Given the description of an element on the screen output the (x, y) to click on. 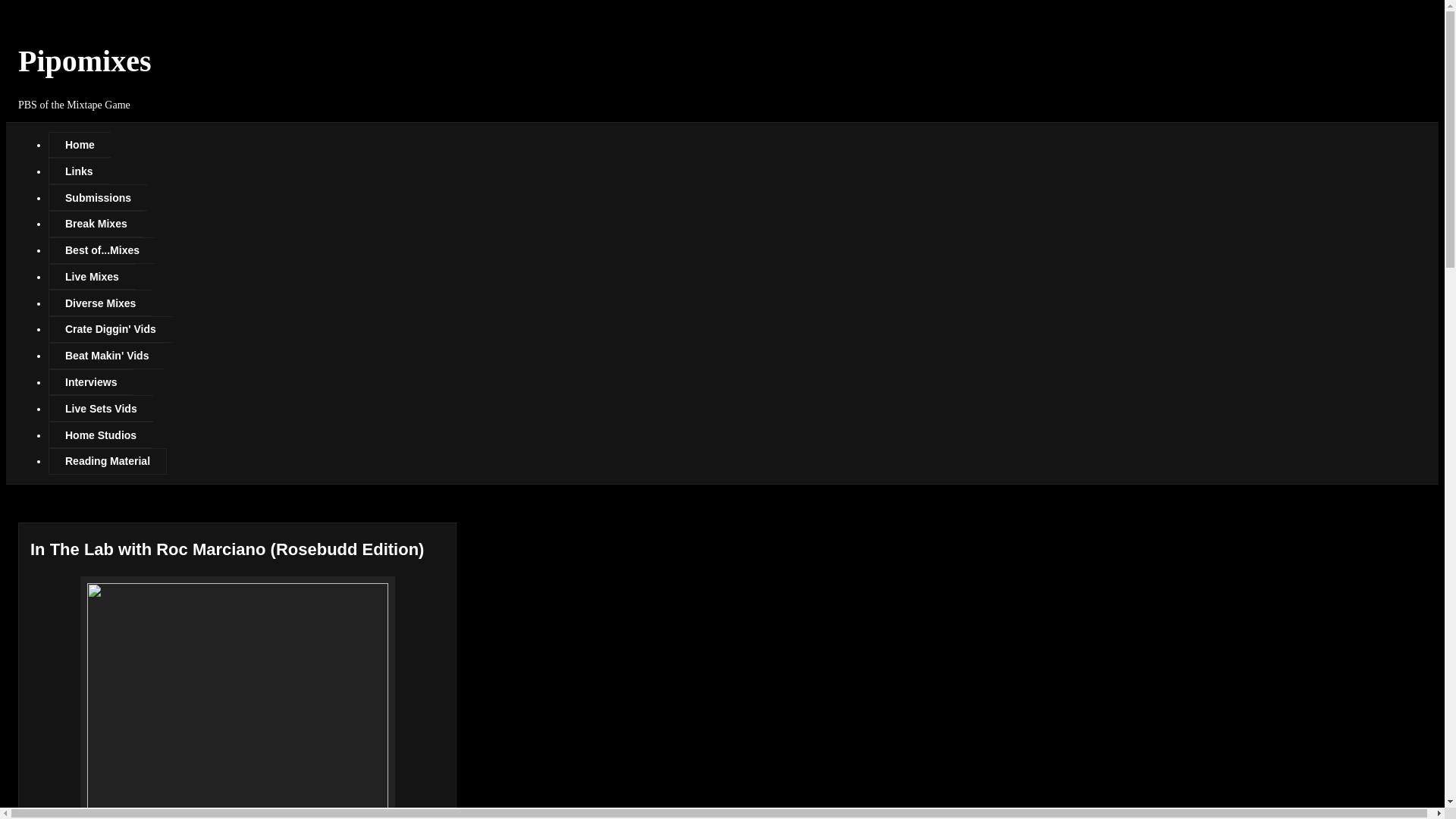
Pipomixes (84, 60)
Reading Material (107, 461)
Live Mixes (91, 276)
Live Sets Vids (100, 407)
Interviews (90, 382)
Best of...Mixes (101, 250)
Home Studios (100, 434)
Diverse Mixes (99, 302)
Home (79, 144)
Break Mixes (95, 223)
Crate Diggin' Vids (109, 329)
Links (78, 171)
Submissions (97, 197)
Beat Makin' Vids (106, 356)
